Given the description of an element on the screen output the (x, y) to click on. 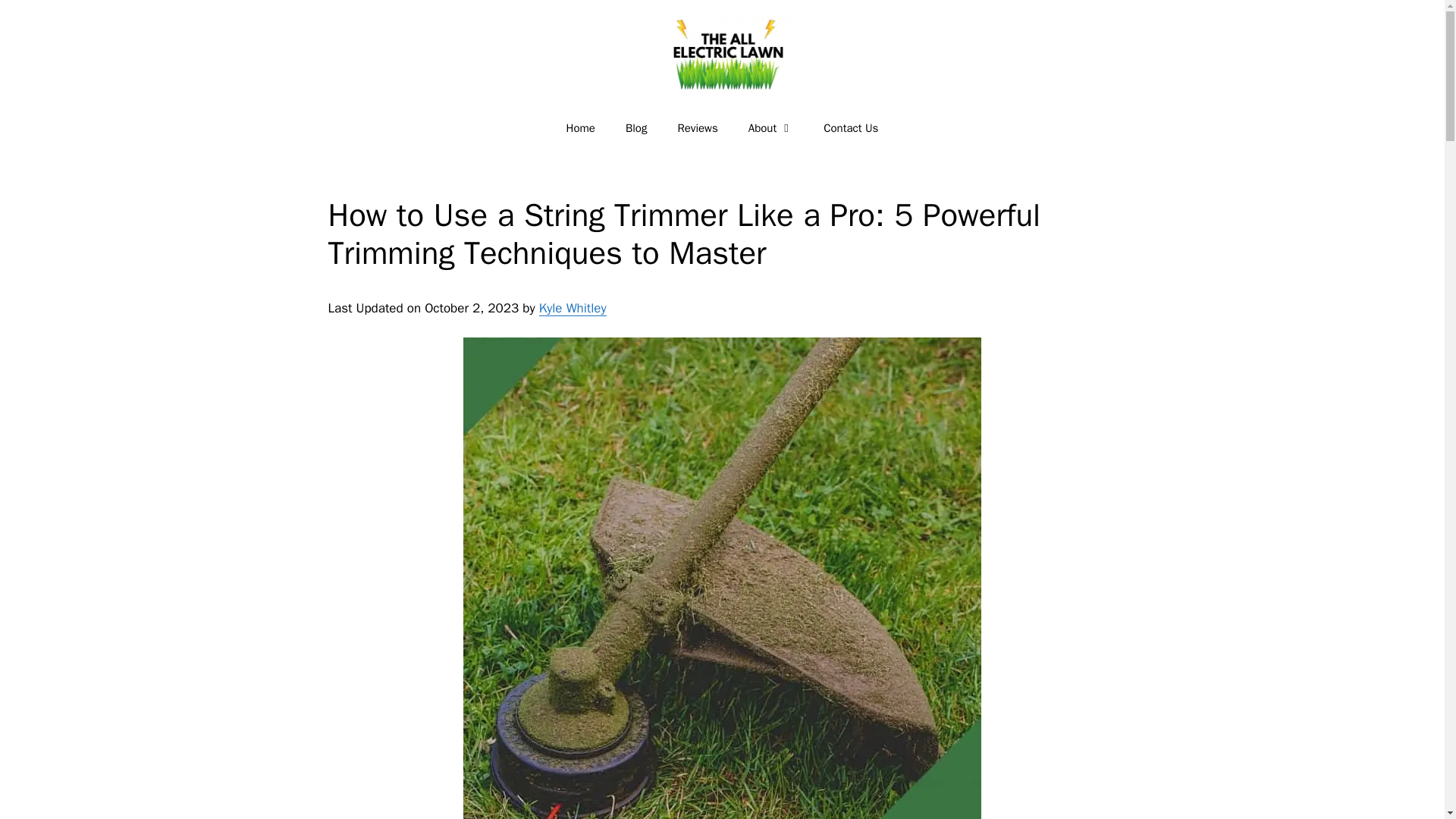
About (770, 127)
Contact Us (850, 127)
Kyle Whitley (572, 308)
Home (580, 127)
Reviews (697, 127)
Blog (636, 127)
